Given the description of an element on the screen output the (x, y) to click on. 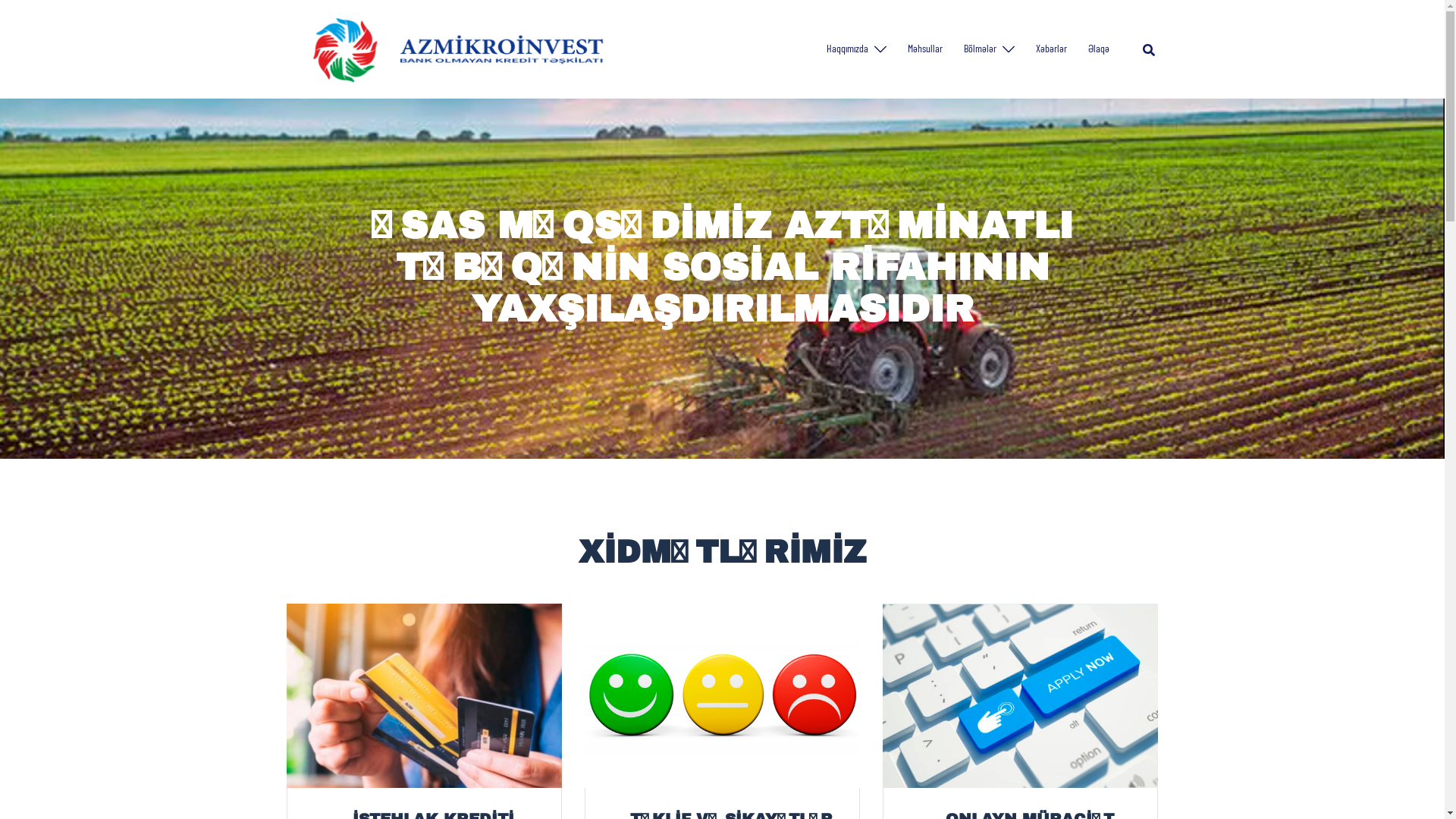
Azmikroinvest Element type: hover (450, 47)
